Given the description of an element on the screen output the (x, y) to click on. 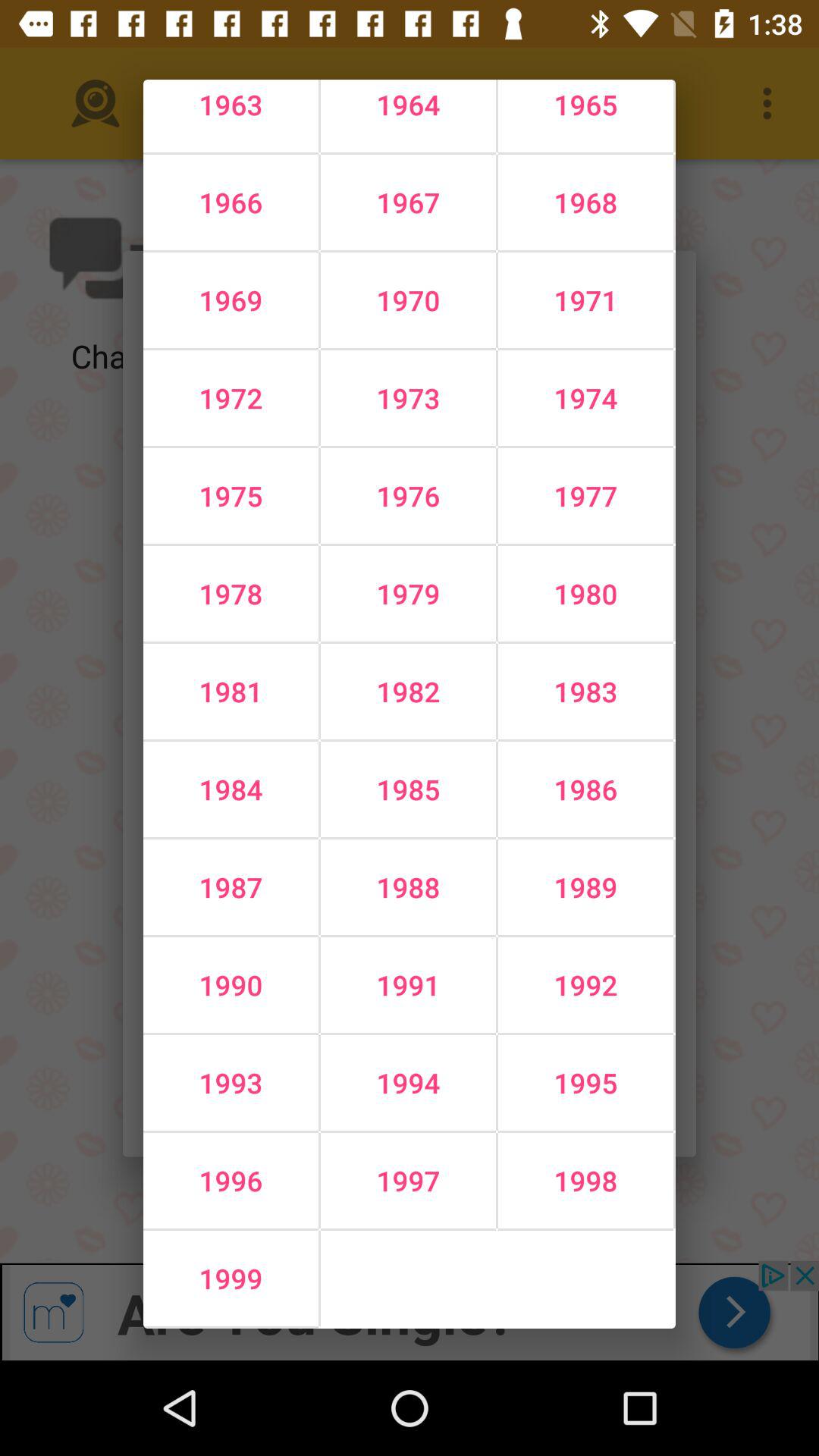
scroll until the 1990 icon (230, 984)
